Given the description of an element on the screen output the (x, y) to click on. 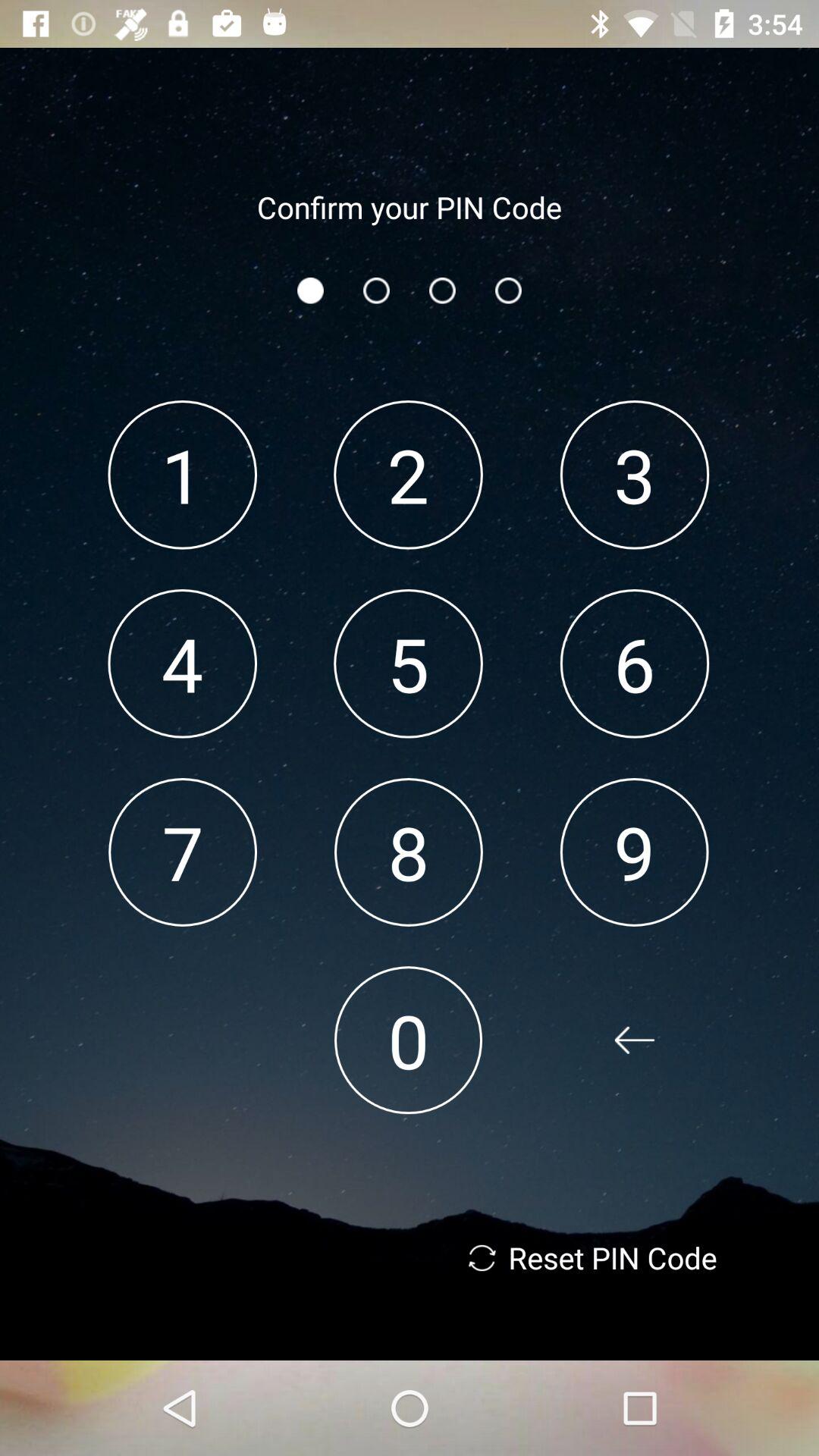
jump to 5 app (407, 663)
